Given the description of an element on the screen output the (x, y) to click on. 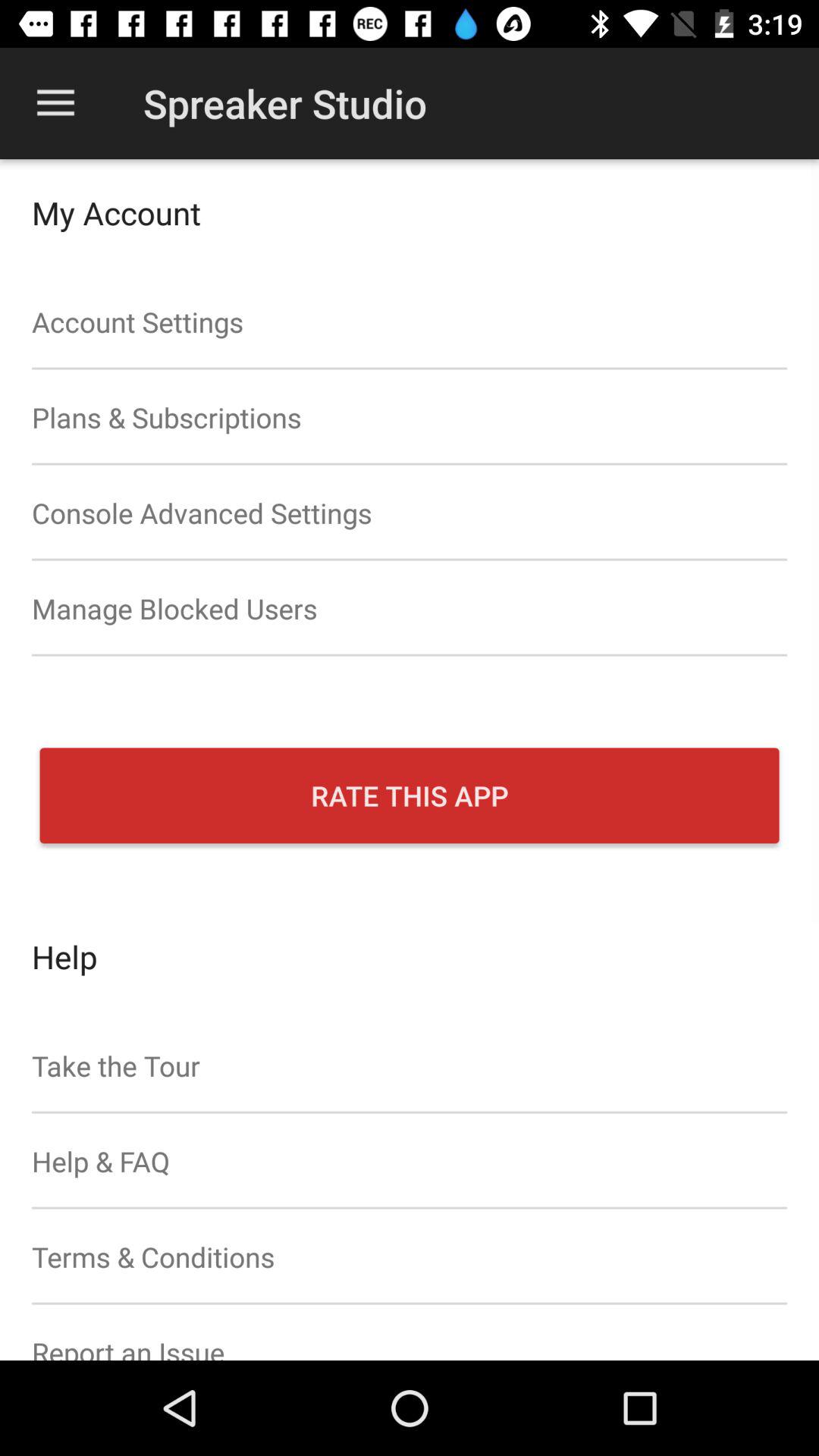
open the icon below terms & conditions (409, 1332)
